Given the description of an element on the screen output the (x, y) to click on. 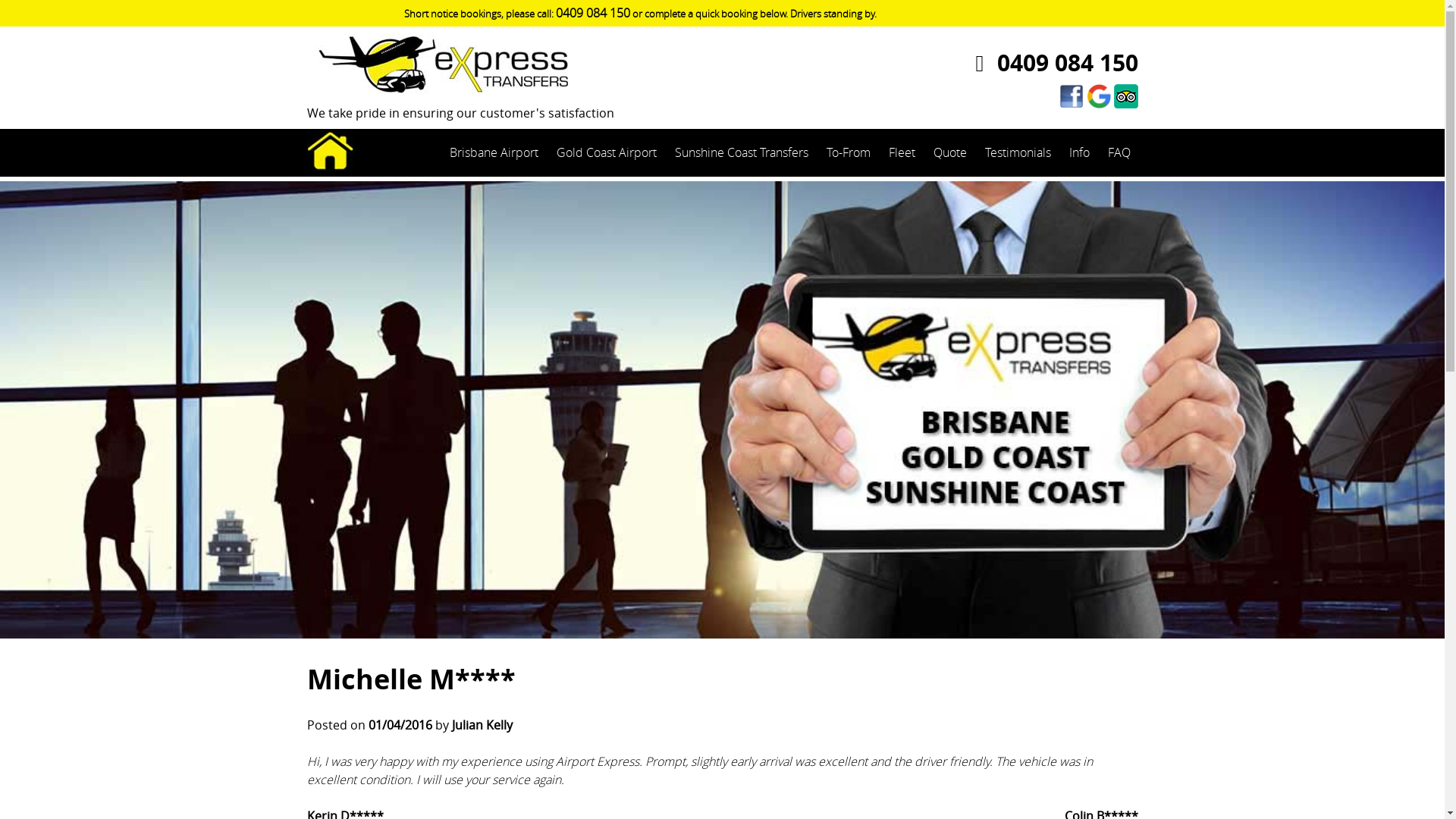
Info Element type: text (1079, 152)
Airport Transfers Gold Coast To Brisbane Airport Element type: text (364, 267)
Brisbane Airport Element type: text (492, 152)
Skip to content Element type: text (0, 0)
Testimonials Element type: text (1017, 152)
Quote Element type: text (949, 152)
Gold Coast Airport Element type: text (606, 152)
To-From Element type: text (848, 152)
01/04/2016 Element type: text (400, 724)
Julian Kelly Element type: text (481, 724)
0409 084 150 Element type: text (592, 12)
0409 084 150 Element type: text (1050, 62)
Sunshine Coast Transfers Element type: text (741, 152)
FAQ Element type: text (1118, 152)
Fleet Element type: text (901, 152)
